Given the description of an element on the screen output the (x, y) to click on. 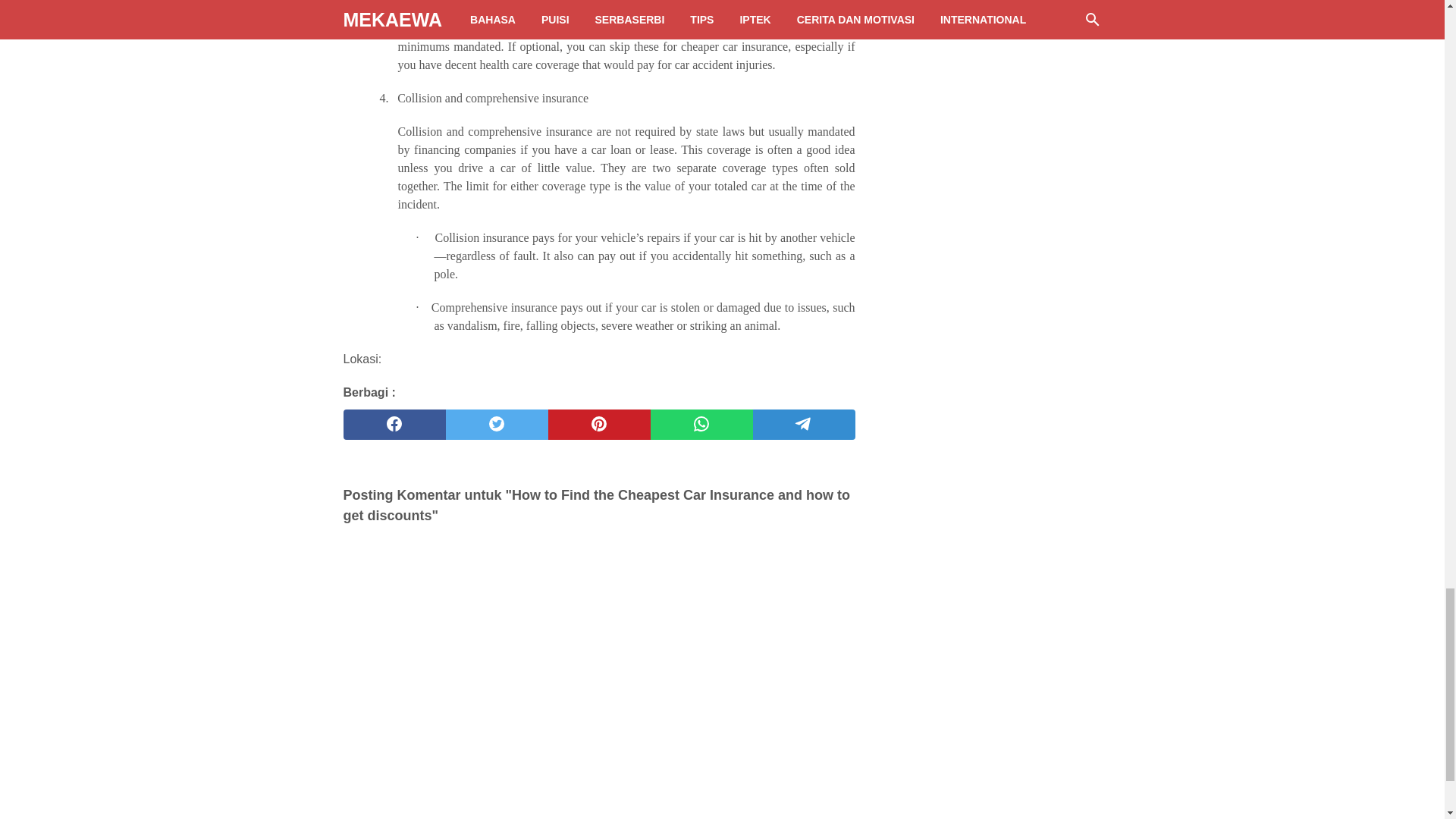
telegram (803, 424)
facebook (393, 424)
whatsapp (701, 424)
twitter (496, 424)
pinterest (598, 424)
